Given the description of an element on the screen output the (x, y) to click on. 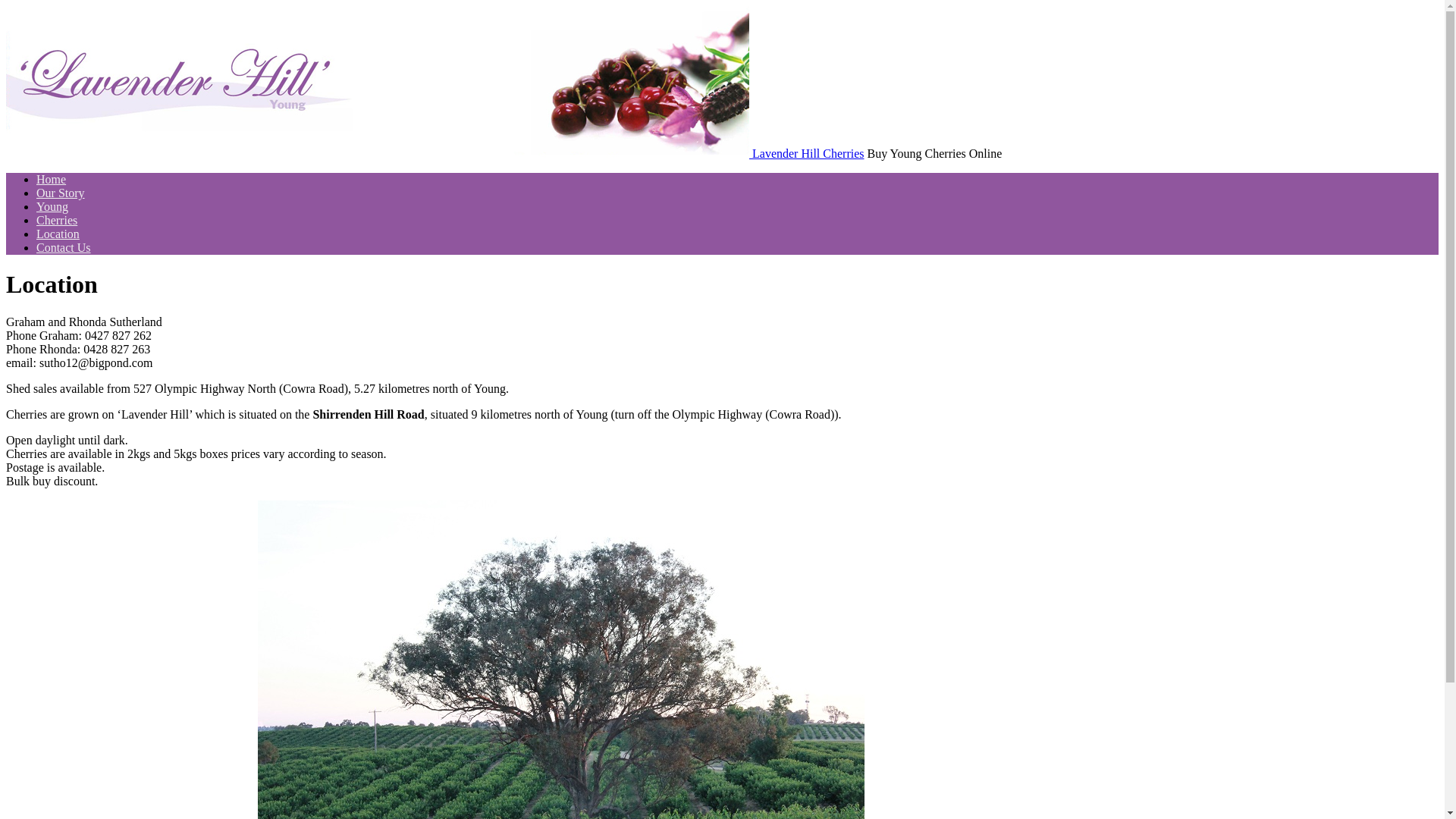
Our Story Element type: text (60, 192)
Buy Young Cherries Online Element type: hover (379, 153)
Contact Us Element type: text (63, 247)
Young Element type: text (52, 206)
Home Element type: text (50, 178)
Cherries Element type: text (56, 219)
Lavender Hill Cherries Element type: text (808, 153)
Location Element type: text (57, 233)
